Given the description of an element on the screen output the (x, y) to click on. 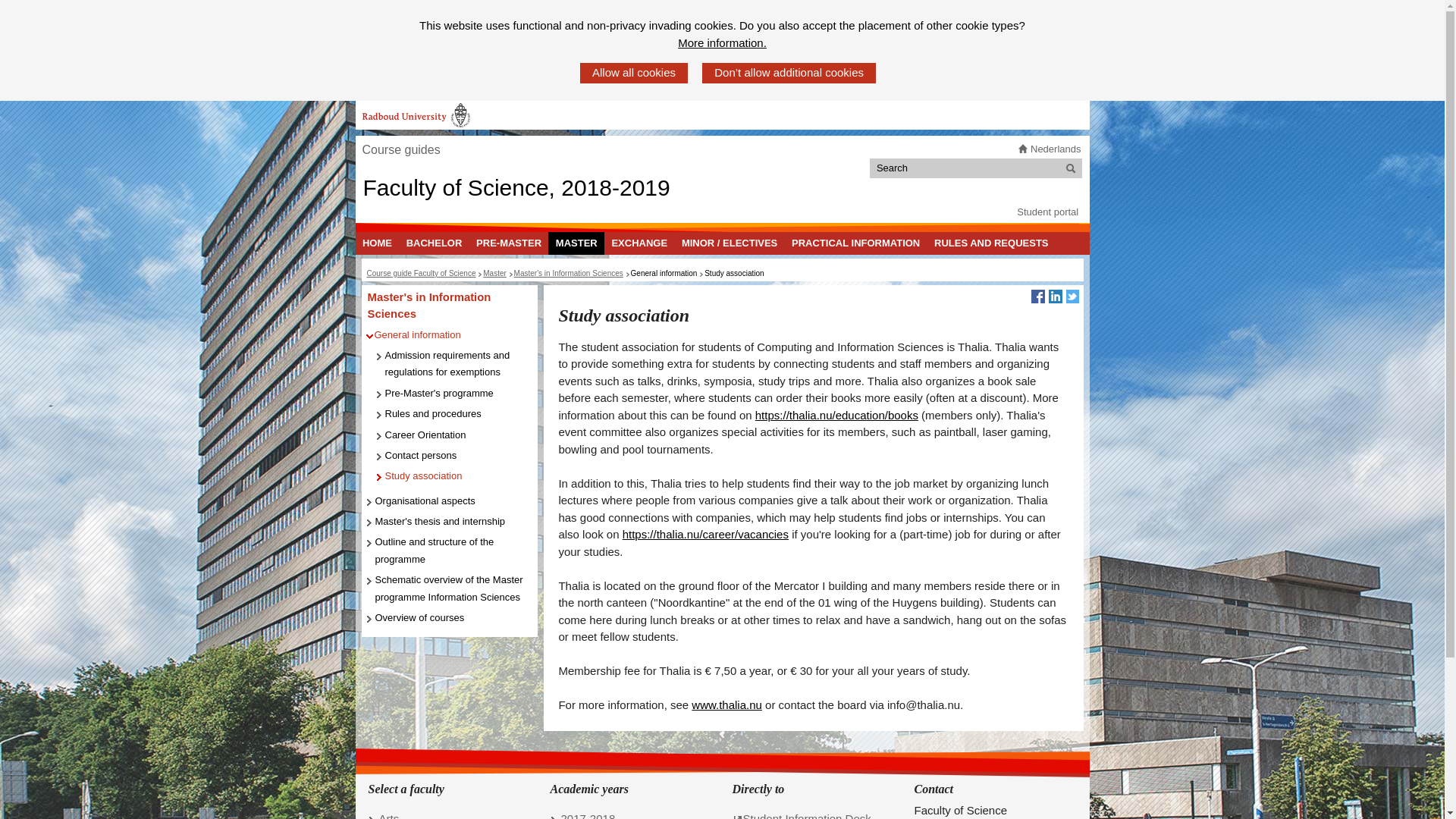
Search (1070, 168)
BACHELOR (434, 243)
More information. (722, 43)
Course guides (400, 149)
Radboud University (415, 115)
Allow all cookies (633, 73)
Nederlands (1055, 149)
Student portal (1047, 211)
Allow all cookies (633, 73)
Faculty of Science, 2018-2019 (515, 187)
HOME (376, 243)
